Given the description of an element on the screen output the (x, y) to click on. 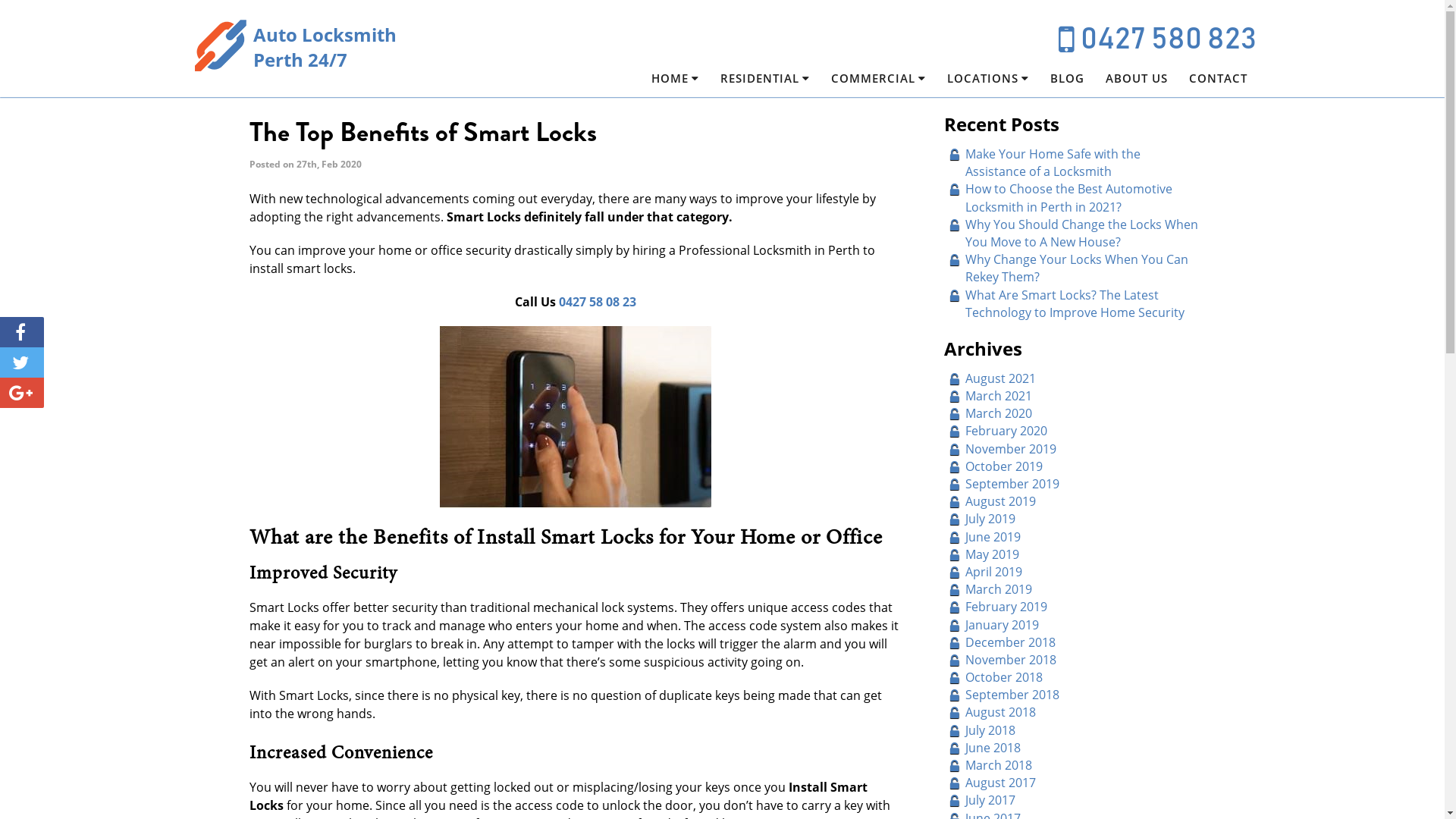
HOME Element type: text (665, 78)
March 2020 Element type: text (997, 412)
Tweet Element type: text (21, 362)
March 2018 Element type: text (997, 764)
February 2020 Element type: text (1005, 430)
Share Element type: text (21, 392)
October 2018 Element type: text (1002, 676)
CONTACT Element type: text (1217, 78)
December 2018 Element type: text (1009, 641)
November 2018 Element type: text (1009, 659)
0427 58 08 23 Element type: text (596, 301)
COMMERCIAL Element type: text (869, 78)
January 2019 Element type: text (1001, 623)
July 2019 Element type: text (989, 518)
November 2019 Element type: text (1009, 448)
ABOUT US Element type: text (1136, 78)
May 2019 Element type: text (991, 554)
Broken Key Replacements Element type: text (712, 100)
September 2019 Element type: text (1011, 483)
Locksmith Bayswater Element type: text (1041, 104)
Make Your Home Safe with the Assistance of a Locksmith Element type: text (1051, 162)
June 2019 Element type: text (991, 536)
August 2017 Element type: text (999, 782)
October 2019 Element type: text (1002, 466)
June 2018 Element type: text (991, 747)
September 2018 Element type: text (1011, 694)
LOCATIONS Element type: text (978, 78)
locksmithperth247-logo Element type: hover (220, 46)
February 2019 Element type: text (1005, 606)
Why Change Your Locks When You Can Rekey Them? Element type: text (1075, 268)
Auto Locksmith
Perth 24/7 Element type: text (294, 46)
After Hours Locksmith Element type: text (823, 104)
0427 580 823 Element type: text (1157, 39)
Access Control Systems Element type: text (938, 104)
RESIDENTIAL Element type: text (755, 78)
Automotive Element type: text (741, 104)
August 2021 Element type: text (999, 378)
July 2018 Element type: text (989, 729)
March 2021 Element type: text (997, 395)
March 2019 Element type: text (997, 588)
July 2017 Element type: text (989, 799)
August 2019 Element type: text (999, 500)
April 2019 Element type: text (992, 571)
Share Element type: text (21, 331)
August 2018 Element type: text (999, 711)
BLOG Element type: text (1066, 78)
